Given the description of an element on the screen output the (x, y) to click on. 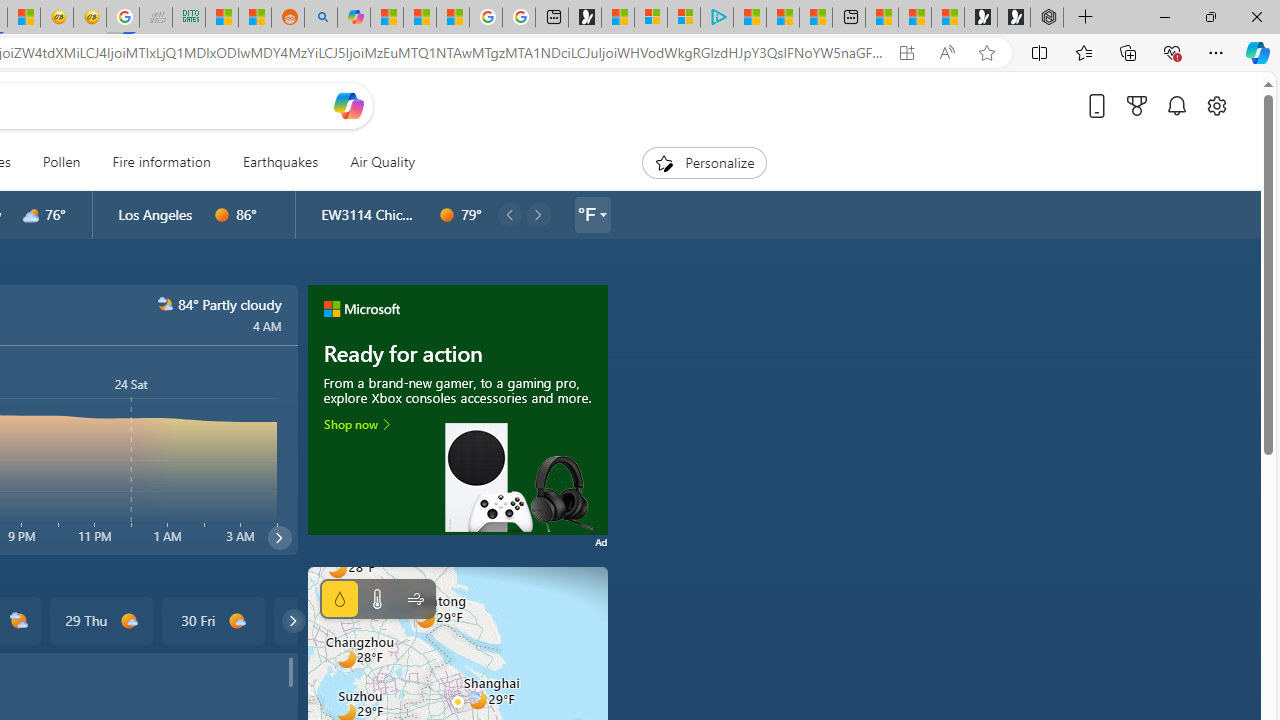
Earthquakes (279, 162)
29 Thu d1000 (100, 620)
31 Sat d1000 (324, 620)
Pollen (61, 162)
d3000 (31, 215)
Fire information (161, 162)
